Given the description of an element on the screen output the (x, y) to click on. 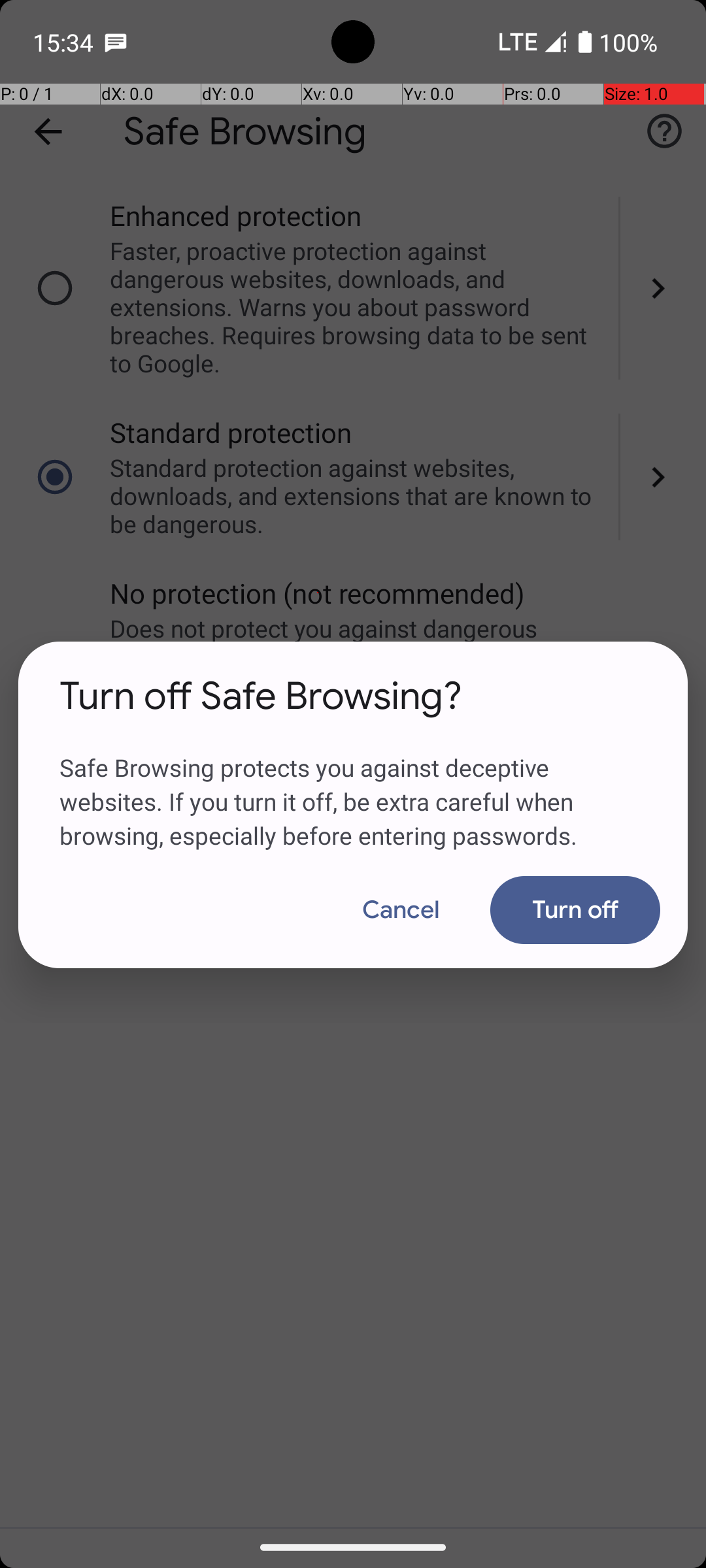
Turn off Safe Browsing? Element type: android.widget.TextView (260, 695)
Safe Browsing protects you against deceptive websites. If you turn it off, be extra careful when browsing, especially before entering passwords. Element type: android.widget.TextView (352, 785)
Turn off Element type: android.widget.Button (575, 909)
